Given the description of an element on the screen output the (x, y) to click on. 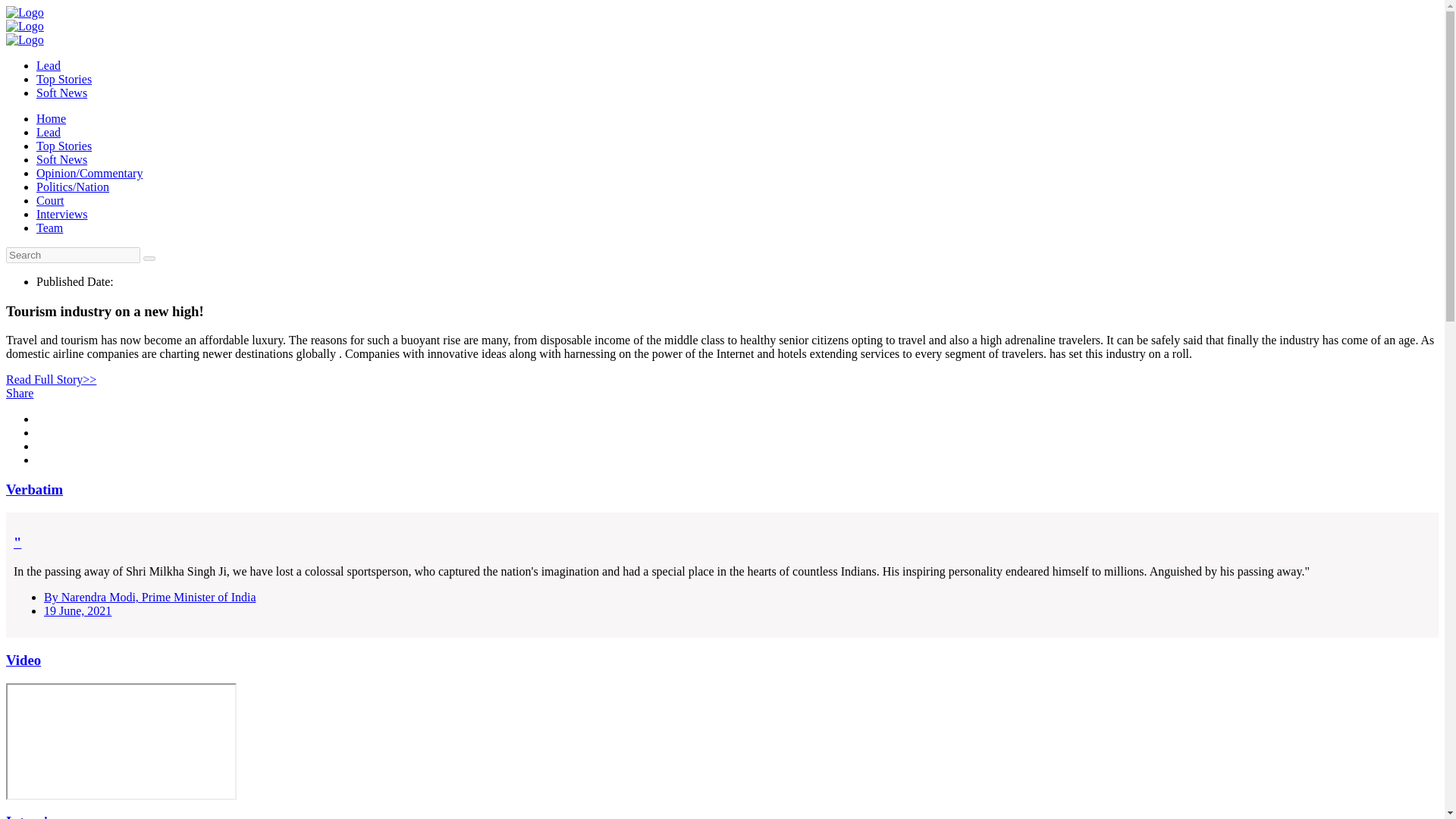
Verbatim (33, 489)
By Narendra Modi, Prime Minister of India (149, 596)
Interviews (37, 816)
Court (50, 200)
Video (22, 659)
Top Stories (63, 78)
19 June, 2021 (77, 610)
Soft News (61, 159)
" (722, 556)
Lead (48, 65)
Team (49, 227)
Lead (48, 132)
Home (50, 118)
Soft News (61, 92)
Top Stories (63, 145)
